Given the description of an element on the screen output the (x, y) to click on. 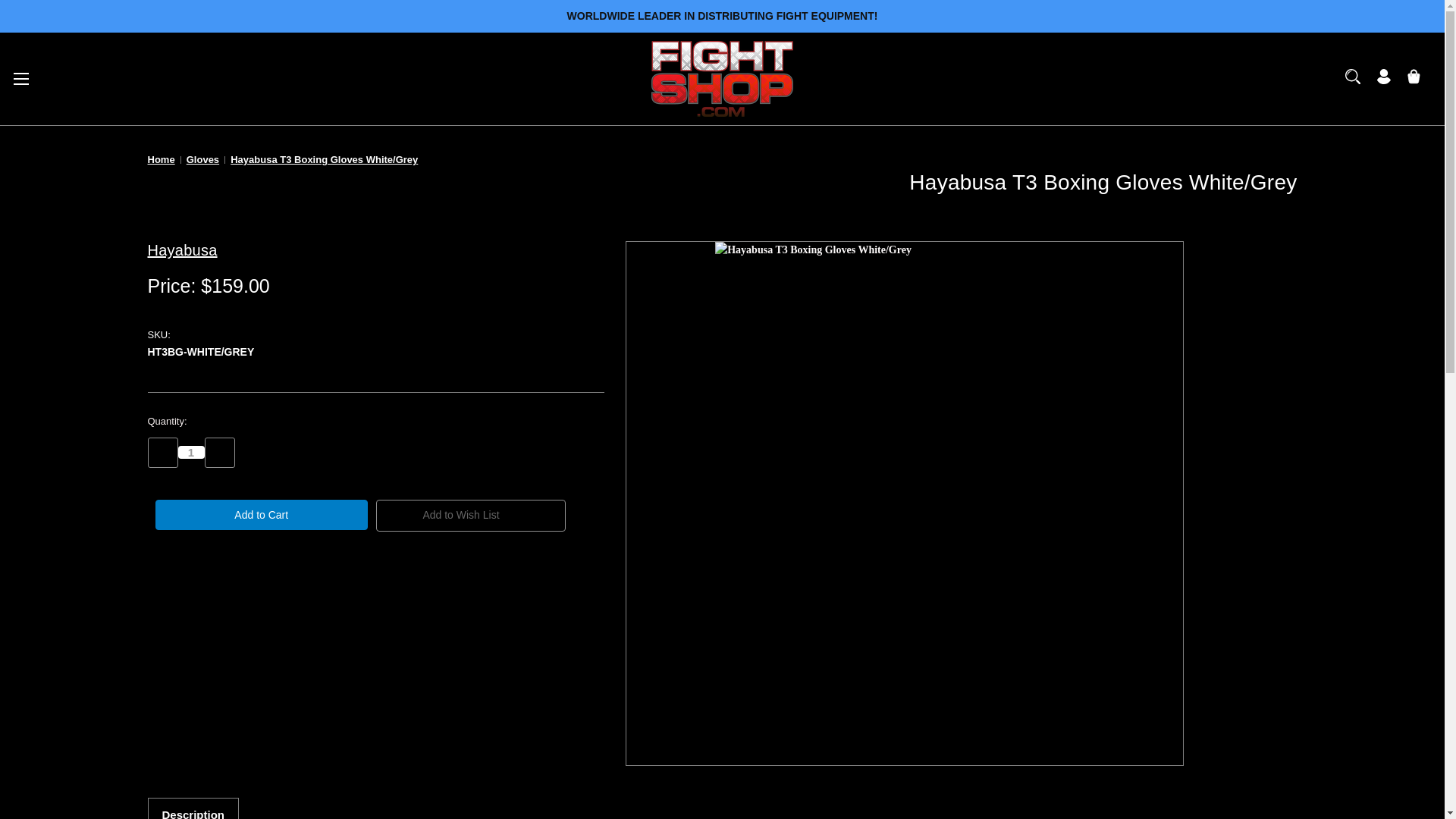
Add to Cart (261, 514)
Magnifying glass image Large red circle with a black border (1352, 76)
1 (21, 78)
